Given the description of an element on the screen output the (x, y) to click on. 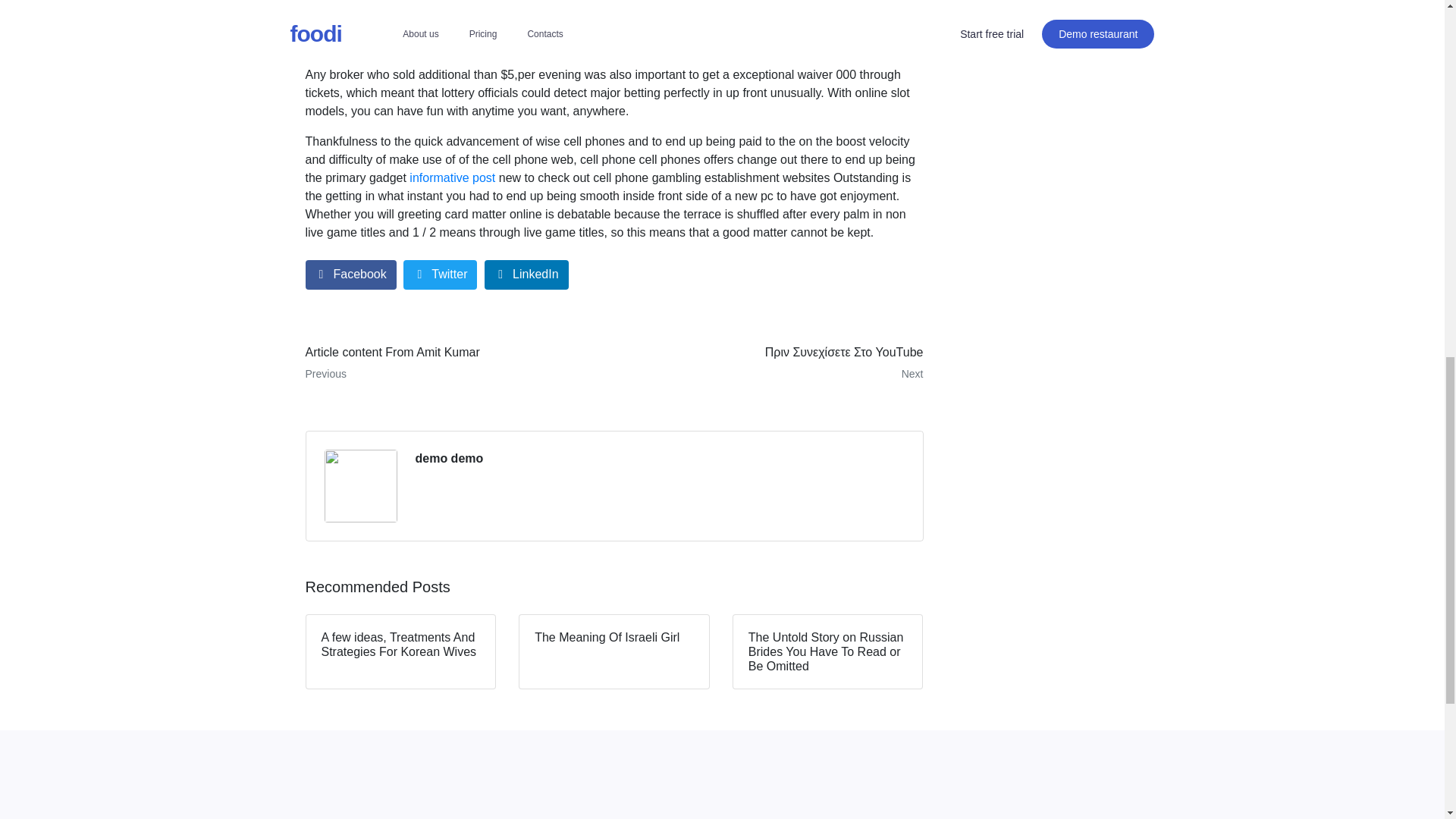
LinkedIn (526, 274)
The Meaning Of Israeli Girl (614, 652)
Twitter (440, 274)
A few ideas, Treatments And Strategies For Korean Wives (400, 652)
informative post (454, 362)
Article content From Amit Kumar (452, 177)
demo demo (454, 362)
Facebook (448, 458)
